Given the description of an element on the screen output the (x, y) to click on. 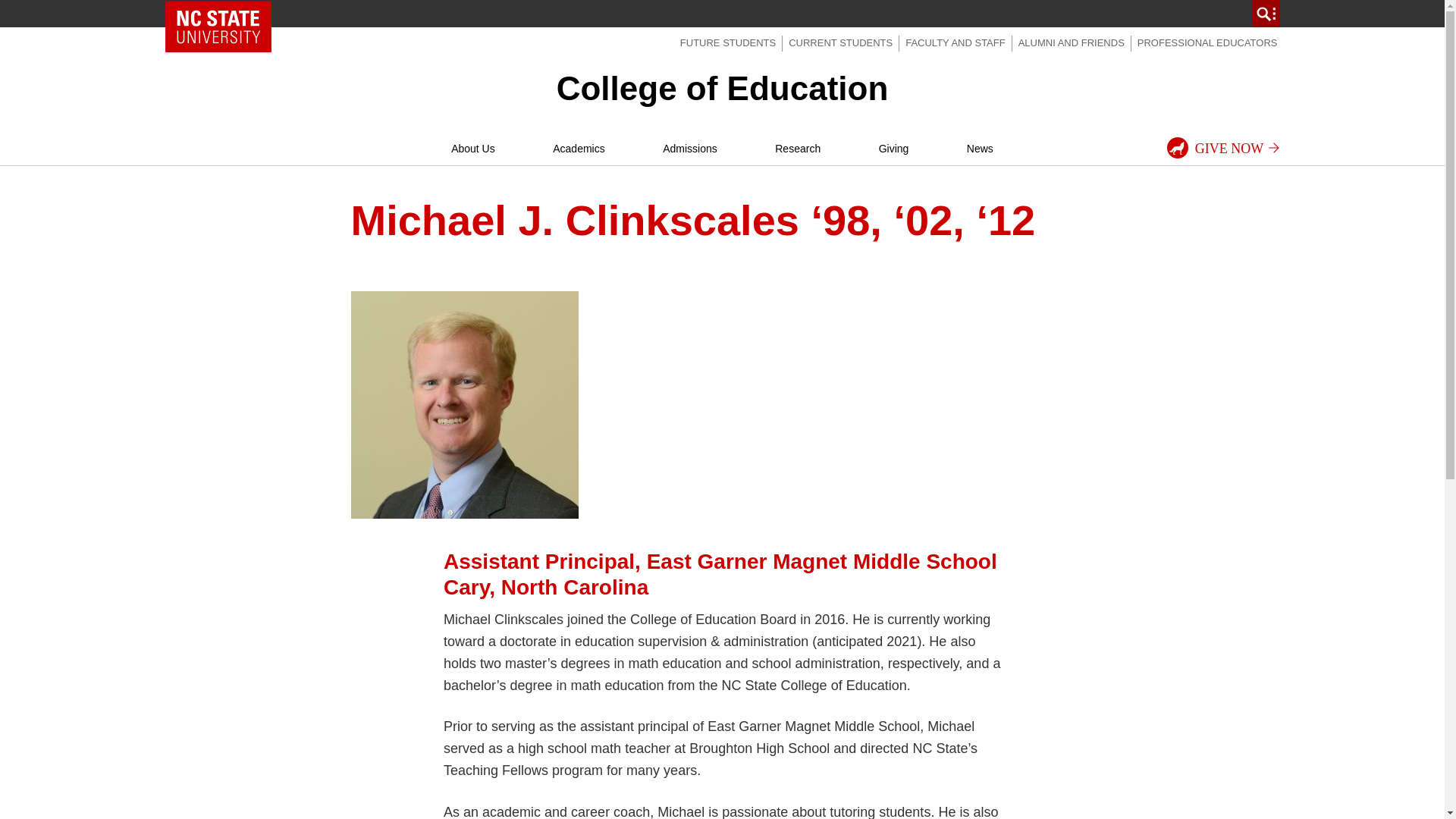
CURRENT STUDENTS (840, 42)
NC State Home (217, 26)
ALUMNI AND FRIENDS (1071, 42)
PROFESSIONAL EDUCATORS (1207, 42)
About Us (473, 148)
College of Education (722, 88)
FACULTY AND STAFF (954, 42)
FUTURE STUDENTS (727, 42)
Academics (577, 148)
